Given the description of an element on the screen output the (x, y) to click on. 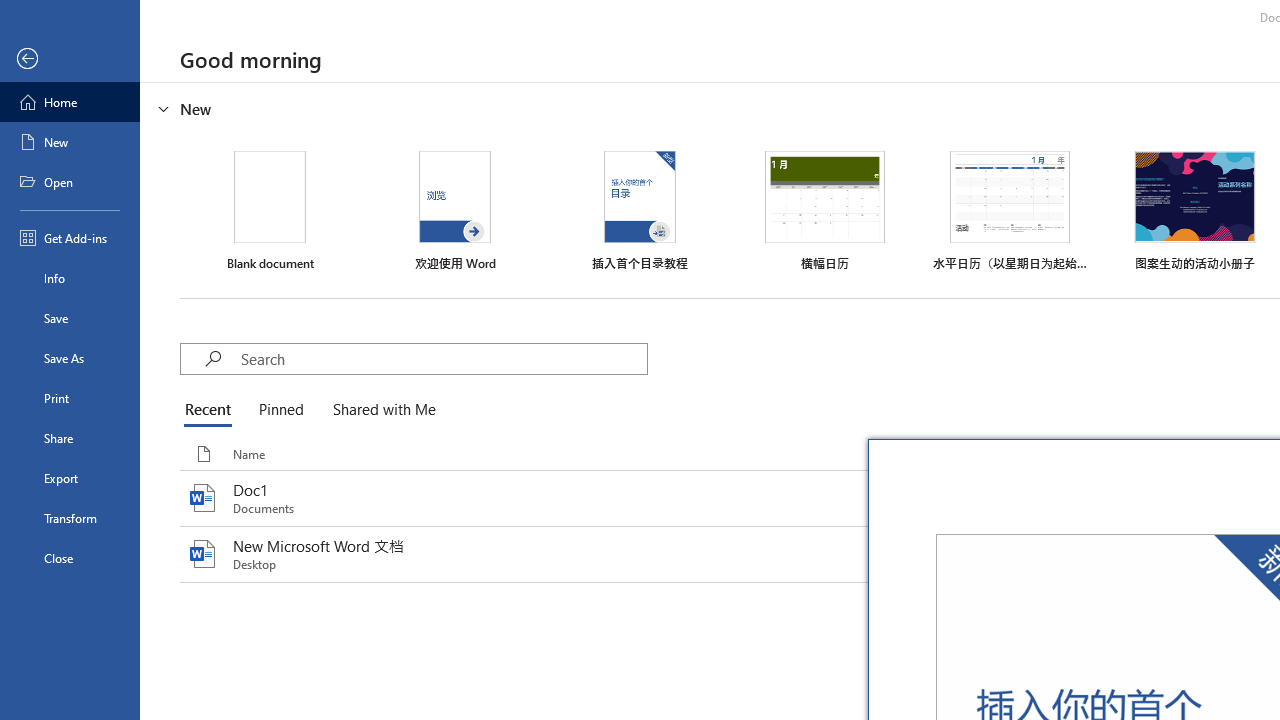
Shared with Me (379, 410)
Home (69, 101)
Save (69, 317)
Close (69, 557)
Hide or show region (164, 108)
Transform (69, 517)
Export (69, 477)
